Given the description of an element on the screen output the (x, y) to click on. 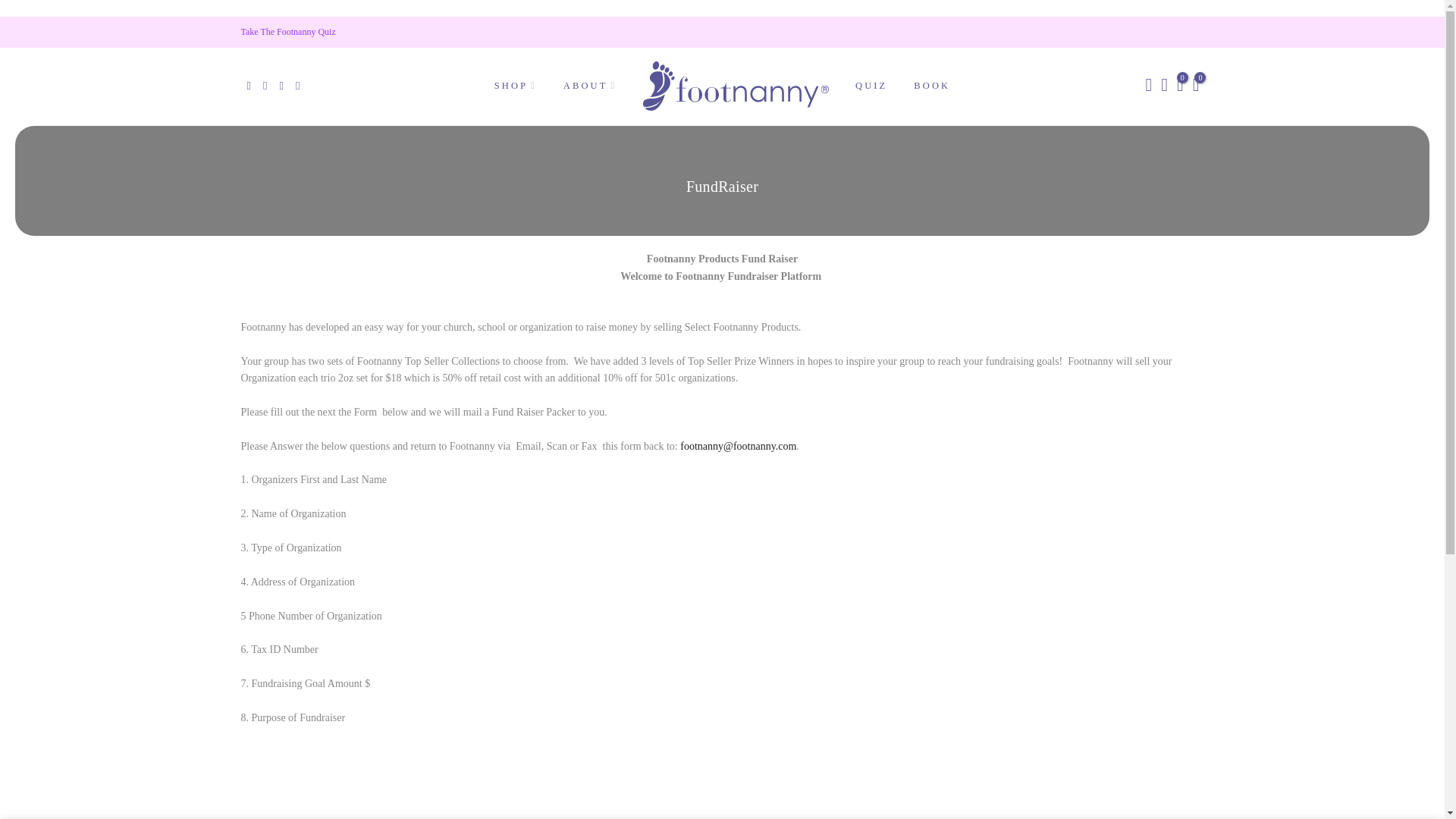
SHOP (515, 85)
ABOUT (589, 85)
